Given the description of an element on the screen output the (x, y) to click on. 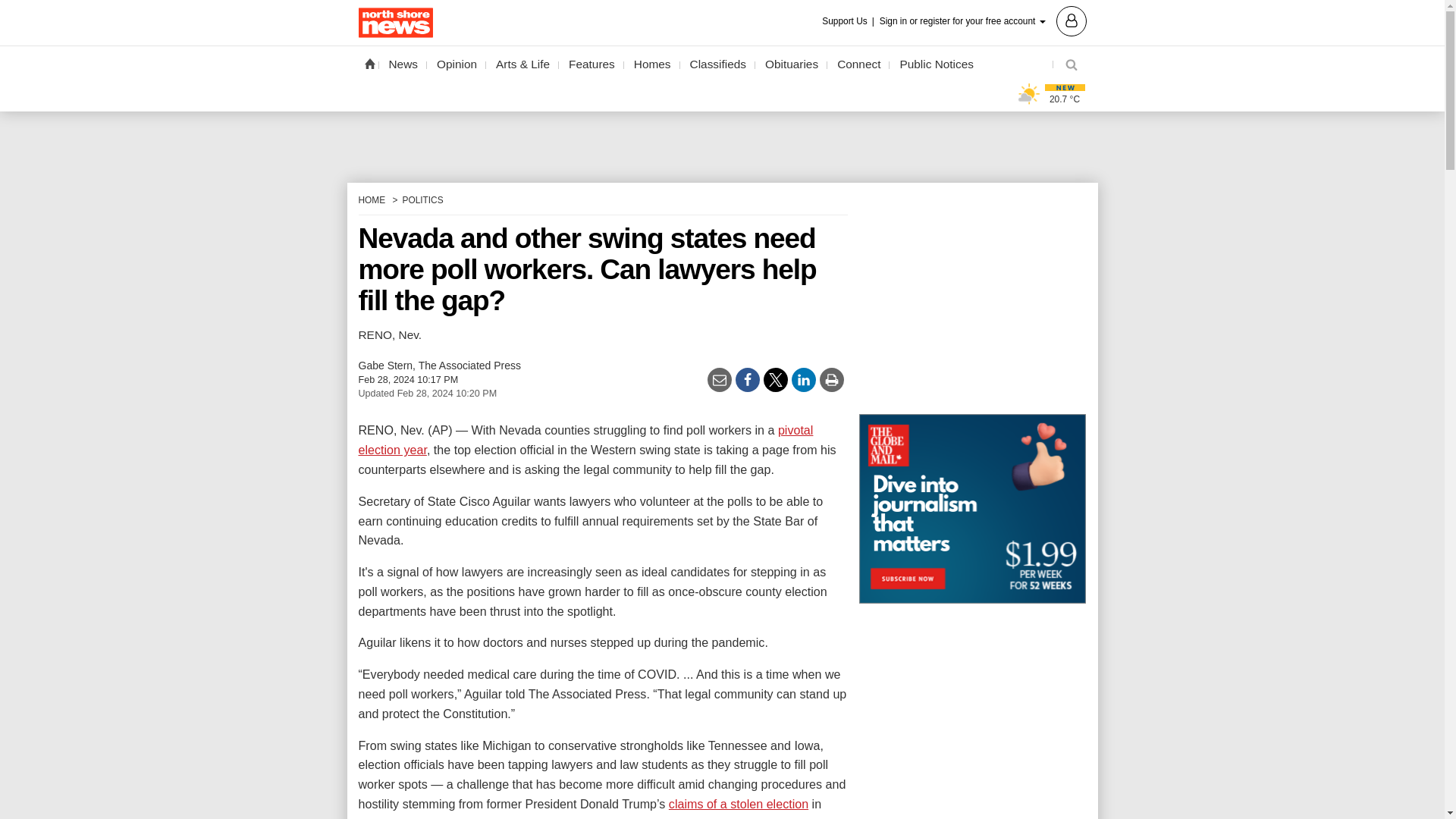
Opinion (456, 64)
News (403, 64)
Support Us (849, 21)
Sign in or register for your free account (982, 20)
Home (368, 63)
